Given the description of an element on the screen output the (x, y) to click on. 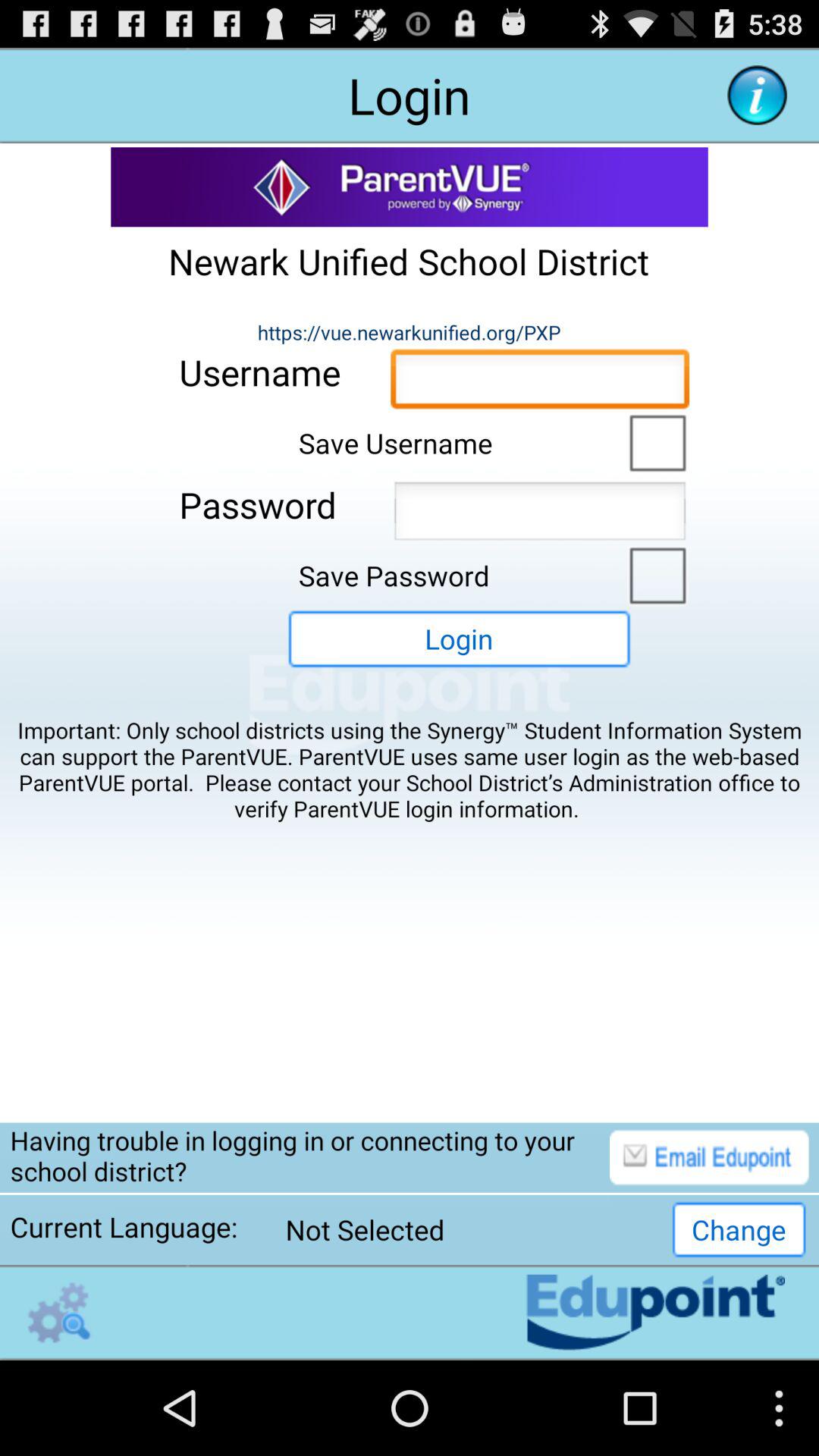
toggle information (757, 95)
